Given the description of an element on the screen output the (x, y) to click on. 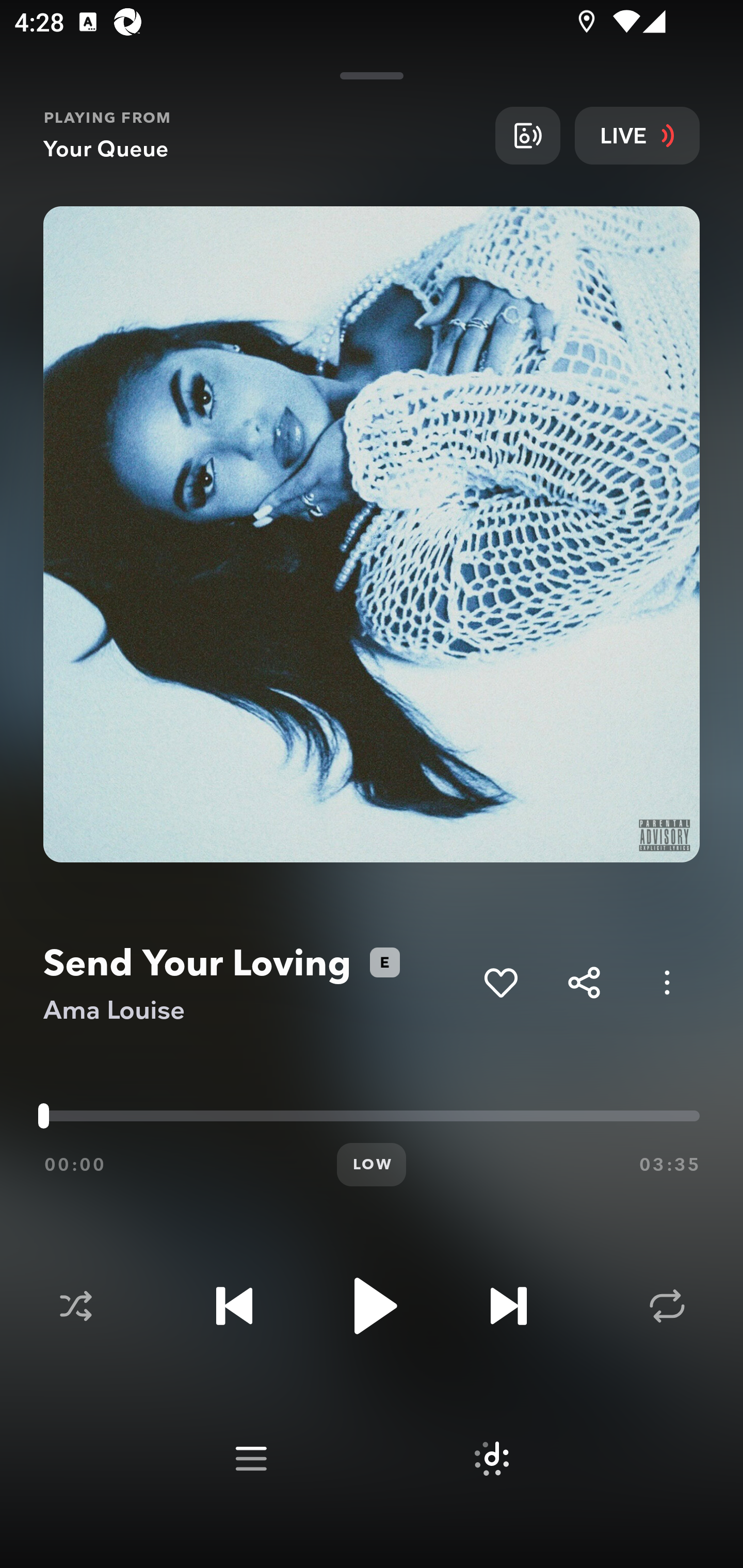
Broadcast (527, 135)
LIVE (637, 135)
PLAYING FROM Your Queue (261, 135)
Send Your Loving    Ama Louise (255, 983)
Add to My Collection (500, 982)
Share (583, 982)
Options (666, 982)
LOW (371, 1164)
Play (371, 1306)
Previous (234, 1306)
Next (508, 1306)
Shuffle disabled (75, 1306)
Repeat Off (666, 1306)
Play queue (250, 1458)
Suggested tracks (491, 1458)
